Given the description of an element on the screen output the (x, y) to click on. 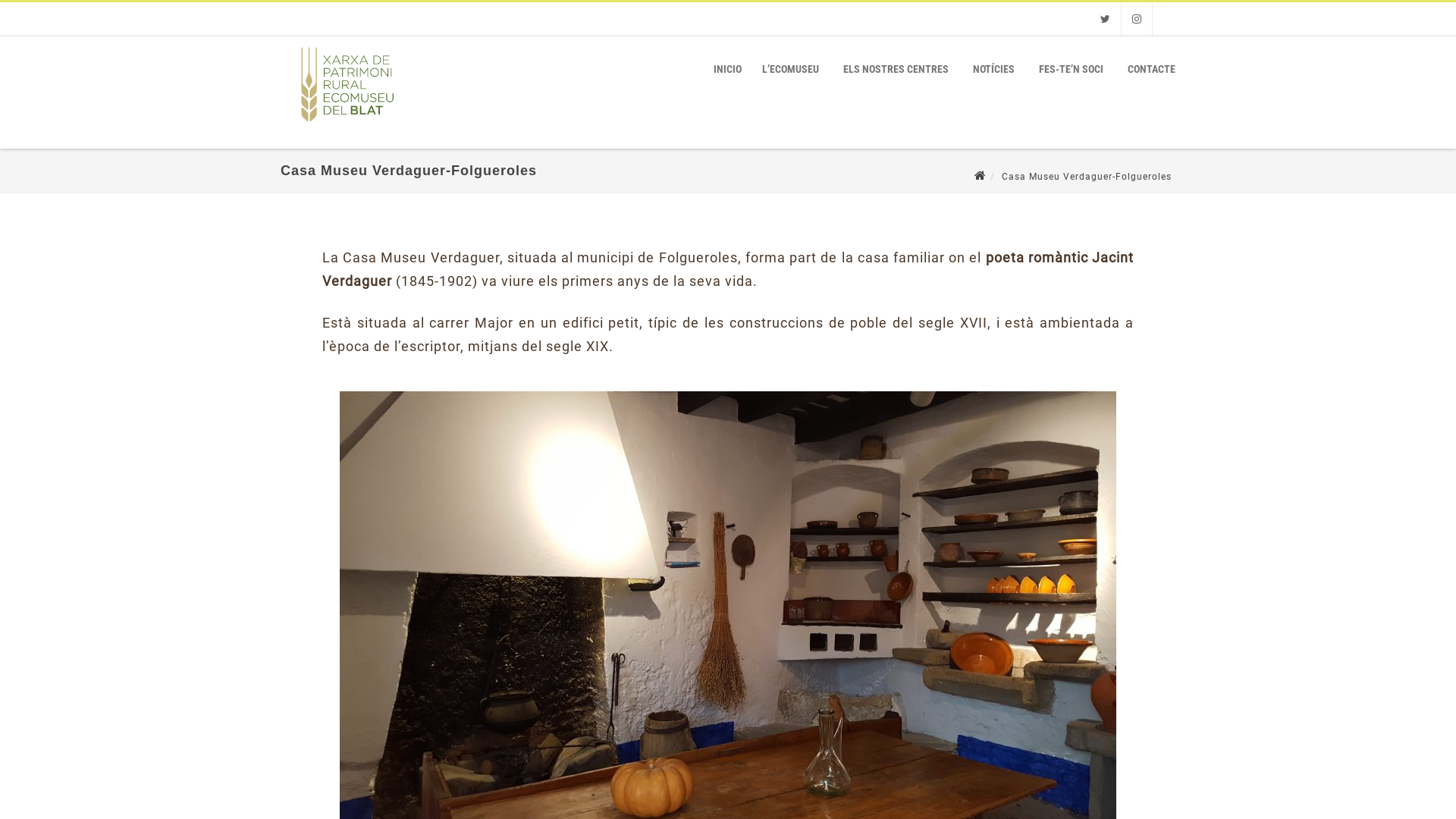
ELS NOSTRES CENTRES Element type: text (895, 68)
CONTACTE Element type: text (1151, 68)
Instagram Element type: hover (1136, 18)
INICIO Element type: text (727, 68)
Twitter Element type: hover (1105, 18)
Xarxa de patrimoni rural Element type: hover (343, 127)
